Given the description of an element on the screen output the (x, y) to click on. 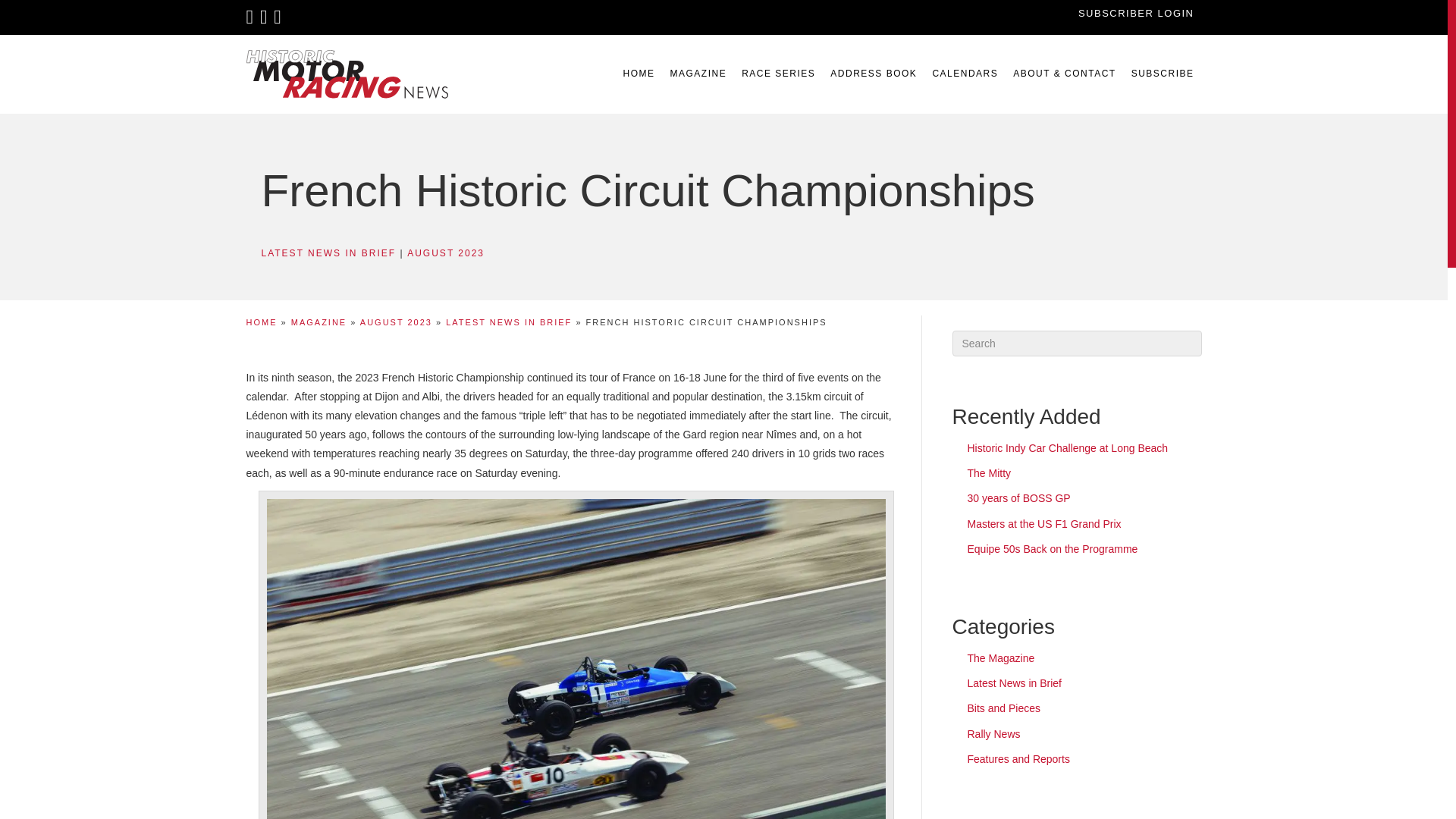
Bits and Pieces (1004, 707)
Latest News in Brief (1015, 683)
LATEST NEWS IN BRIEF (508, 321)
Type and press Enter to search. (1077, 343)
SUBSCRIBER LOGIN (1135, 12)
Historic Motor Racing News Logo (346, 73)
The Magazine (1001, 657)
MAGAZINE (697, 74)
Rally News (994, 734)
Historic Indy Car Challenge at Long Beach (1068, 448)
